Given the description of an element on the screen output the (x, y) to click on. 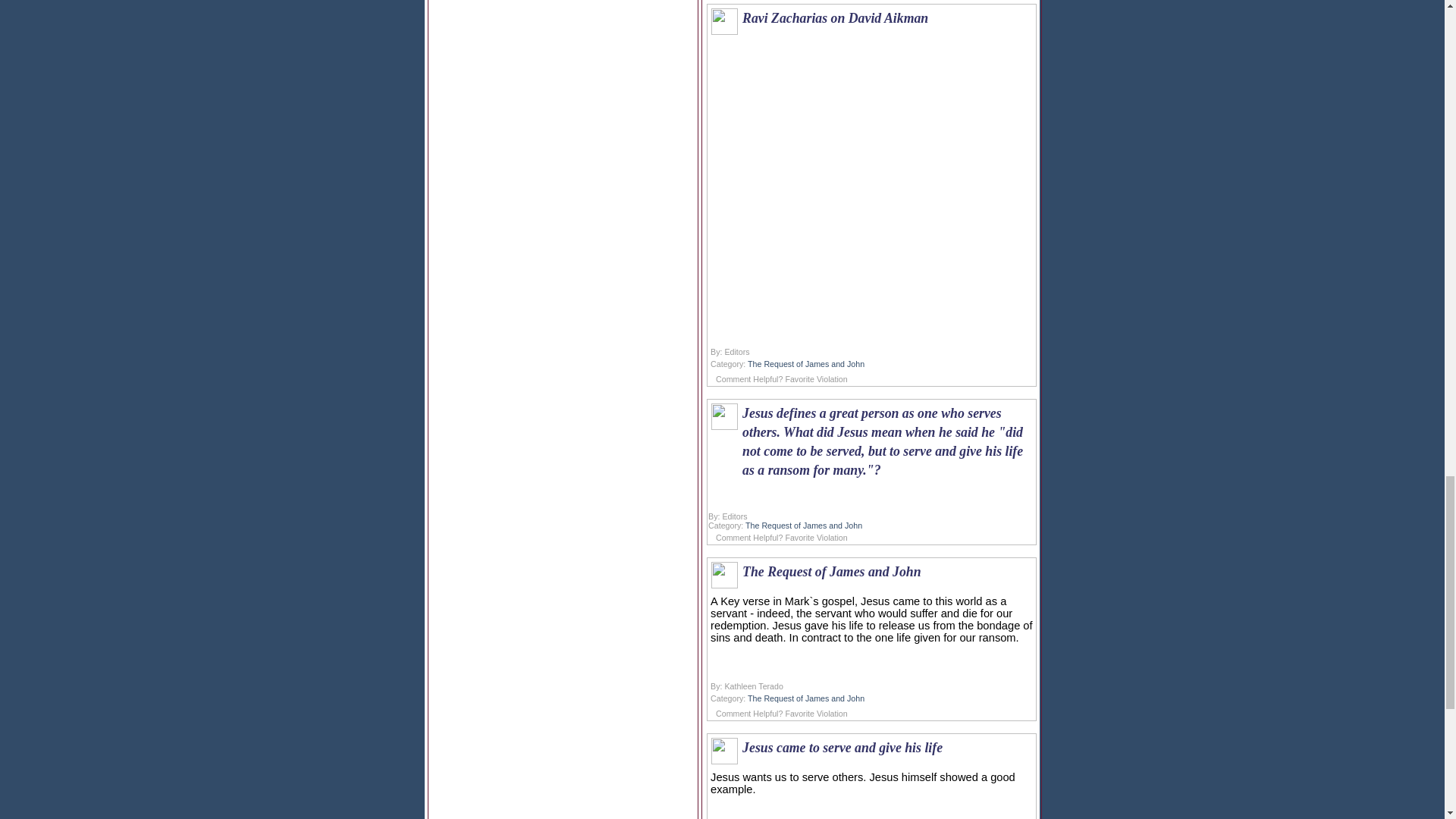
The Request of James and John (806, 697)
The Request of James and John (803, 524)
The Request of James and John (806, 363)
